Given the description of an element on the screen output the (x, y) to click on. 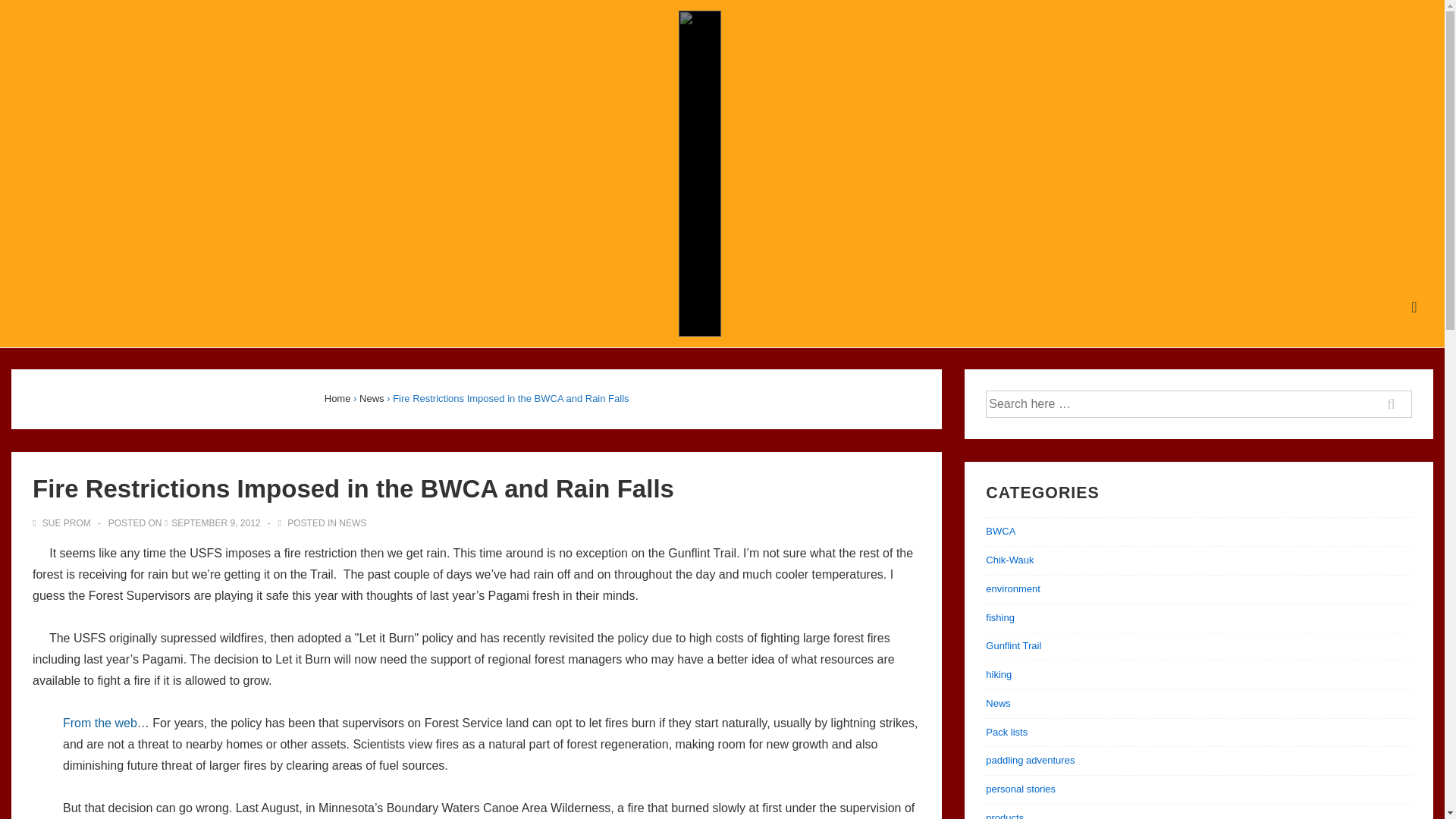
Home (337, 398)
fishing (999, 617)
hiking (998, 674)
SEPTEMBER 9, 2012 (215, 522)
Pack lists (1006, 731)
Fire Restrictions Imposed in the BWCA and Rain Falls (215, 522)
NEWS (352, 522)
News (997, 703)
Gunflint Trail (1013, 645)
Chik-Wauk (1009, 559)
paddling adventures (1029, 759)
From the web (99, 722)
personal stories (1020, 788)
News (371, 398)
BWCA (999, 531)
